Given the description of an element on the screen output the (x, y) to click on. 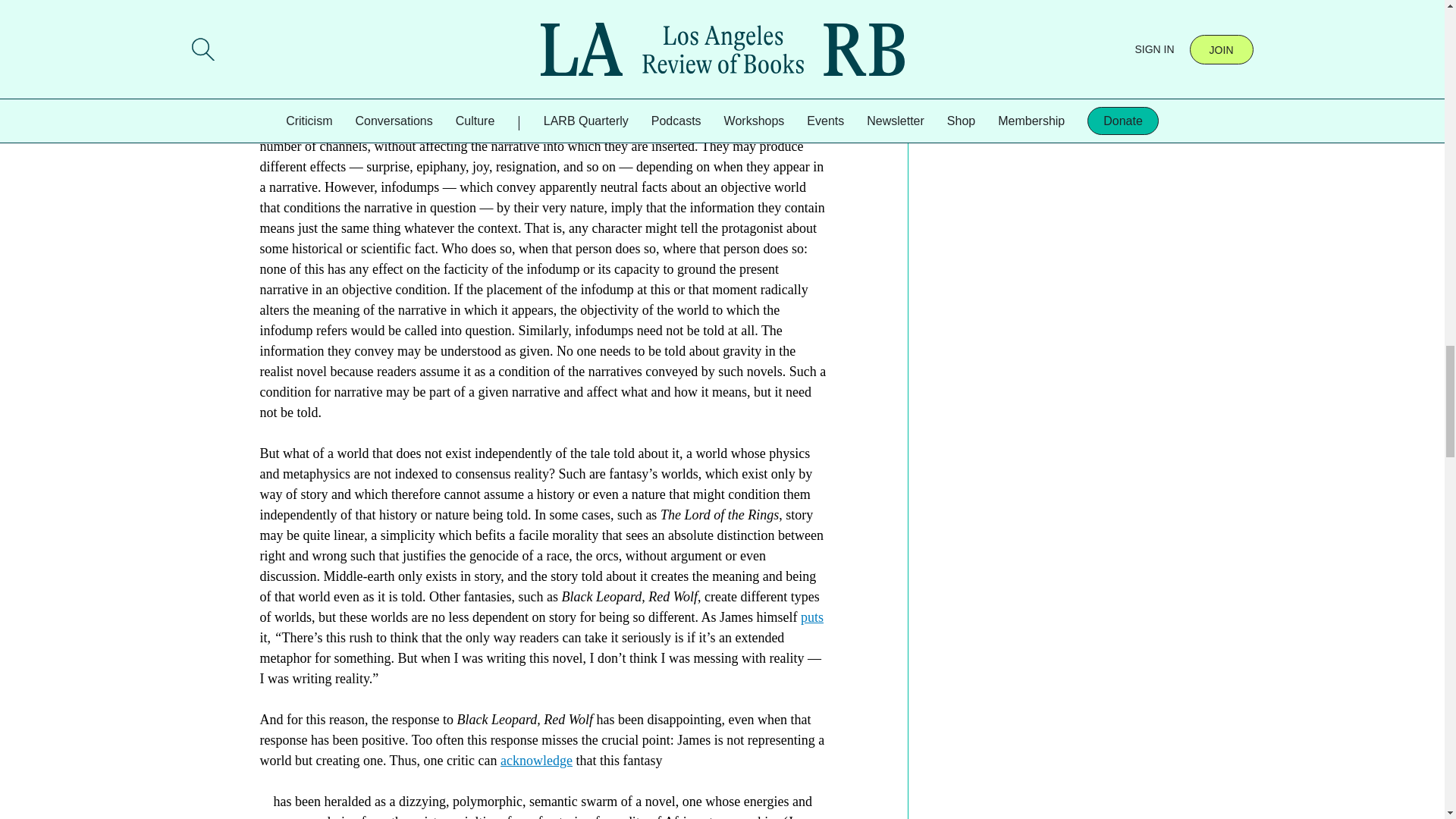
puts (812, 616)
acknowledge (536, 760)
